Given the description of an element on the screen output the (x, y) to click on. 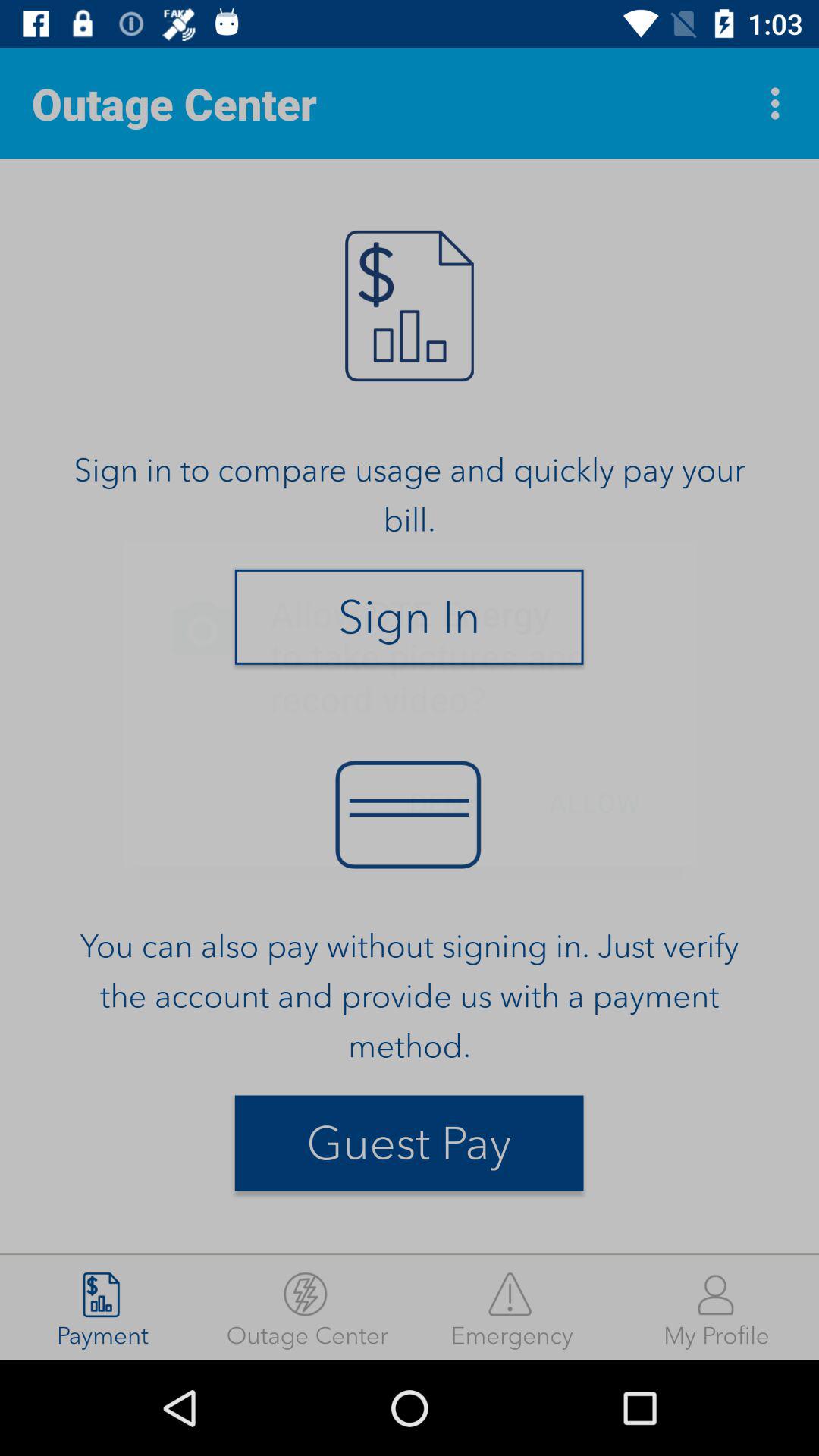
turn on item to the right of the emergency (716, 1307)
